Given the description of an element on the screen output the (x, y) to click on. 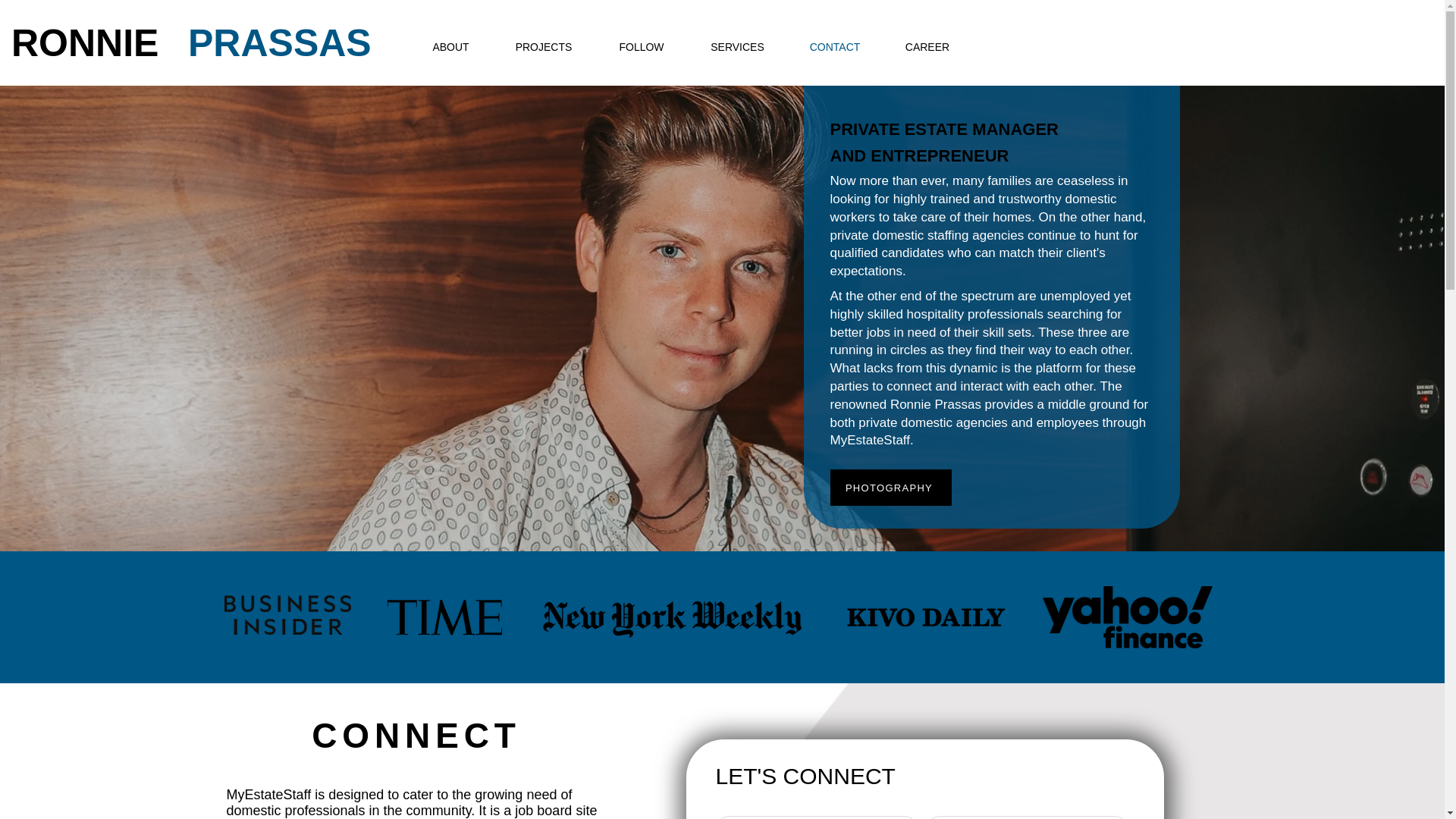
RONNIE (84, 43)
ABOUT (451, 47)
PRASSAS (279, 43)
PROJECTS (543, 47)
CONTACT (834, 47)
FOLLOW (641, 47)
SERVICES (737, 47)
PHOTOGRAPHY (889, 487)
CAREER (927, 47)
